Given the description of an element on the screen output the (x, y) to click on. 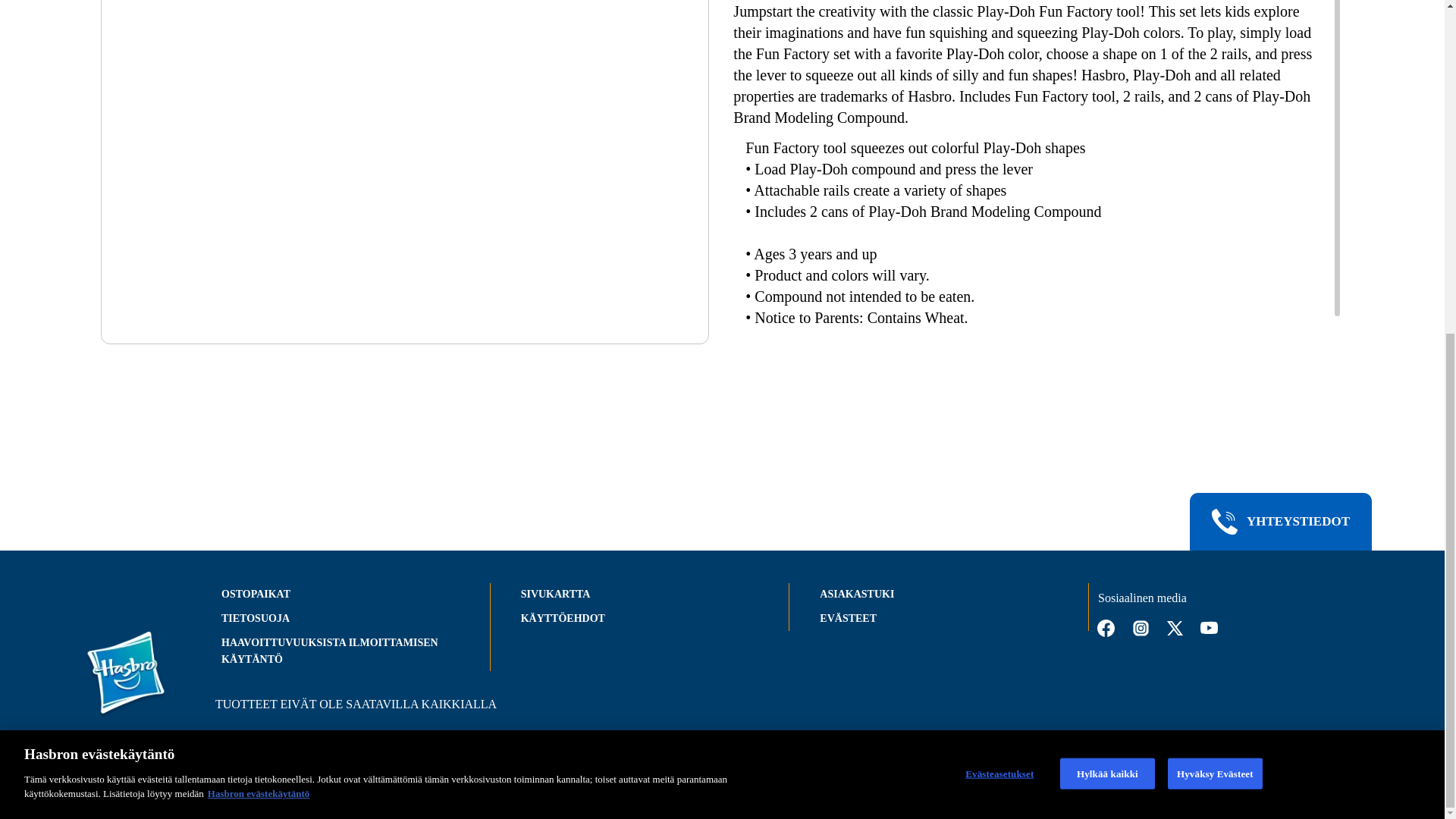
ASIAKASTUKI (856, 593)
OSTOPAIKAT (255, 593)
SIVUKARTTA (556, 593)
TIETOSUOJA (255, 618)
